Given the description of an element on the screen output the (x, y) to click on. 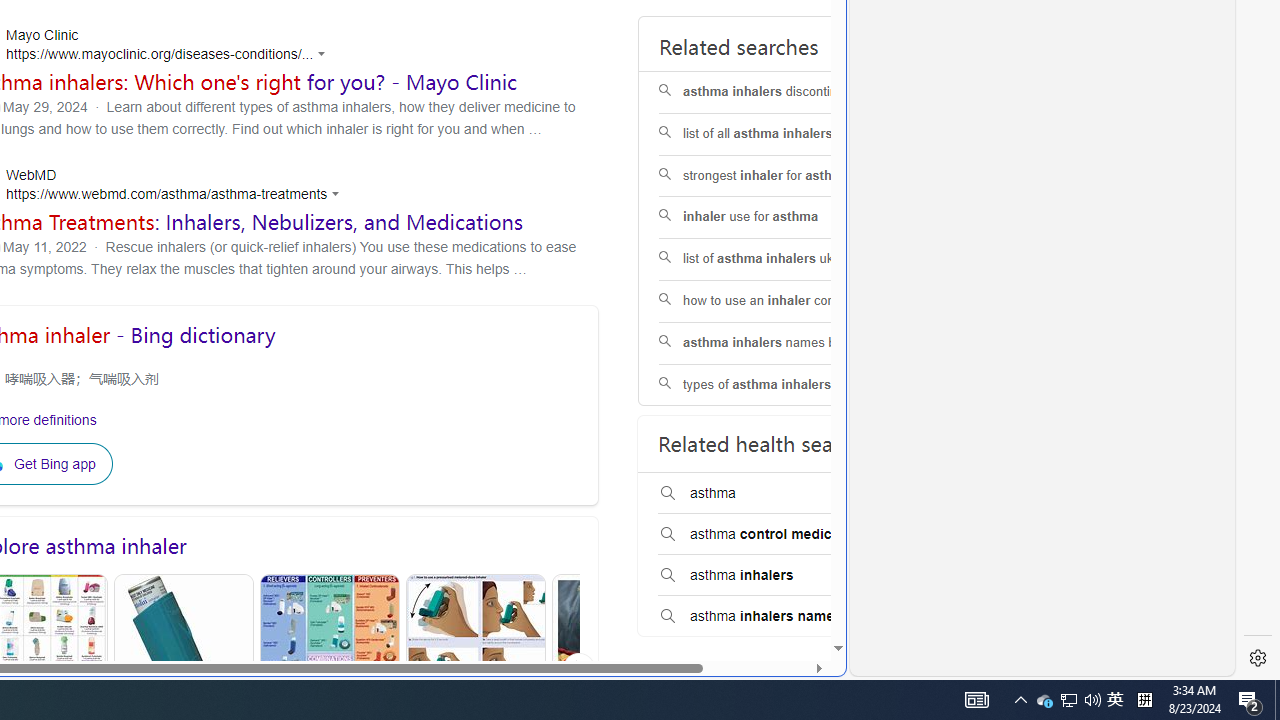
list of asthma inhalers uk (785, 259)
Click to scroll right (579, 668)
strongest inhaler for asthma (785, 176)
list of asthma inhalers uk (785, 259)
asthma inhalers discontinued (785, 92)
asthma inhalers names brands (785, 342)
asthma (785, 493)
AutomationID: mfa_root (762, 588)
asthma inhalers names brands (785, 343)
